Given the description of an element on the screen output the (x, y) to click on. 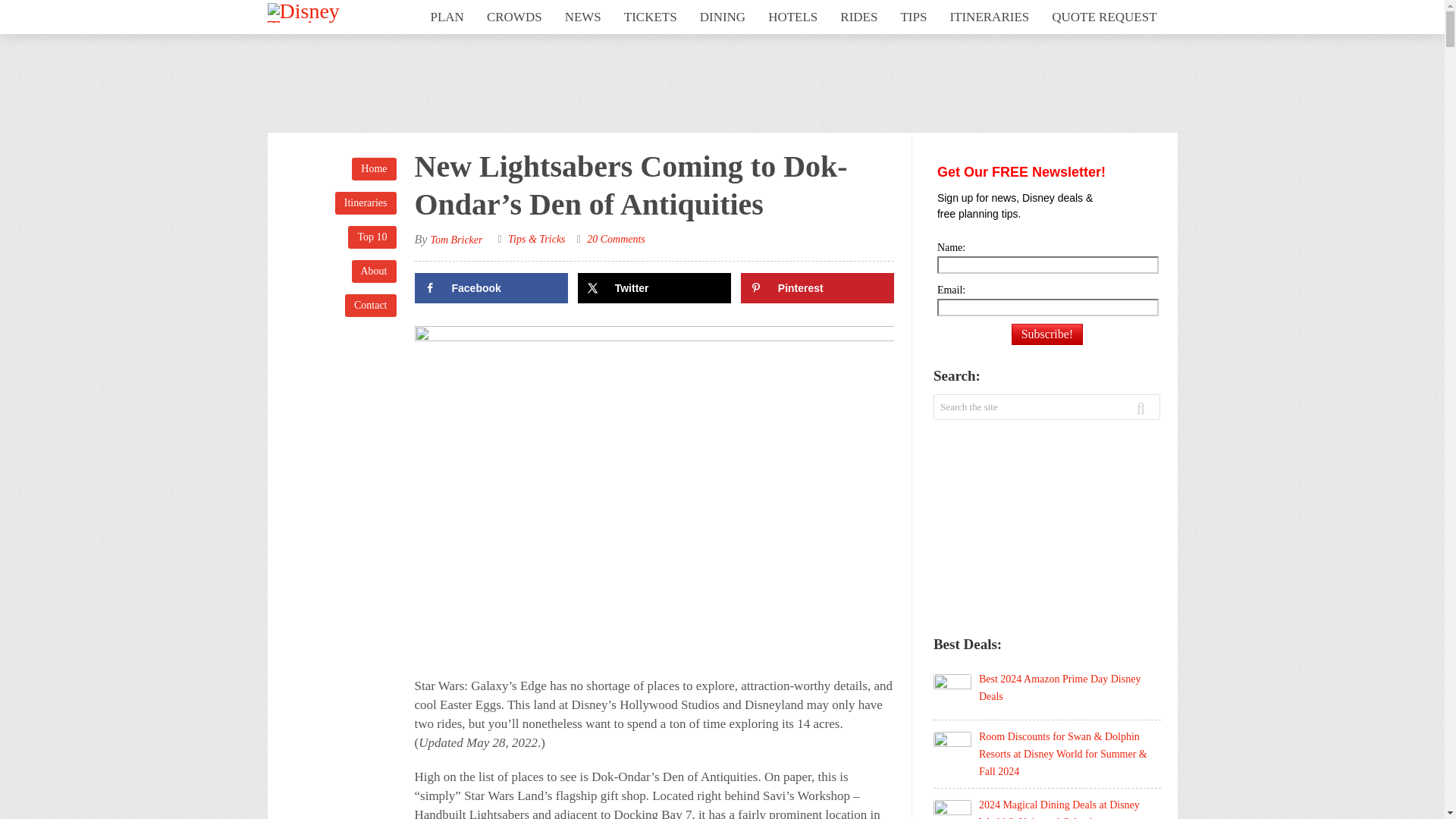
ITINERARIES (989, 17)
Search the site (1002, 406)
Share on X (655, 287)
Top 10 (371, 237)
Home (374, 169)
20 Comments (615, 238)
Contact (370, 305)
Itineraries (365, 202)
CROWDS (514, 17)
Share on Facebook (490, 287)
Posts by Tom Bricker (455, 239)
PLAN (446, 17)
Pinterest (818, 287)
Facebook (490, 287)
Subscribe! (1047, 333)
